Given the description of an element on the screen output the (x, y) to click on. 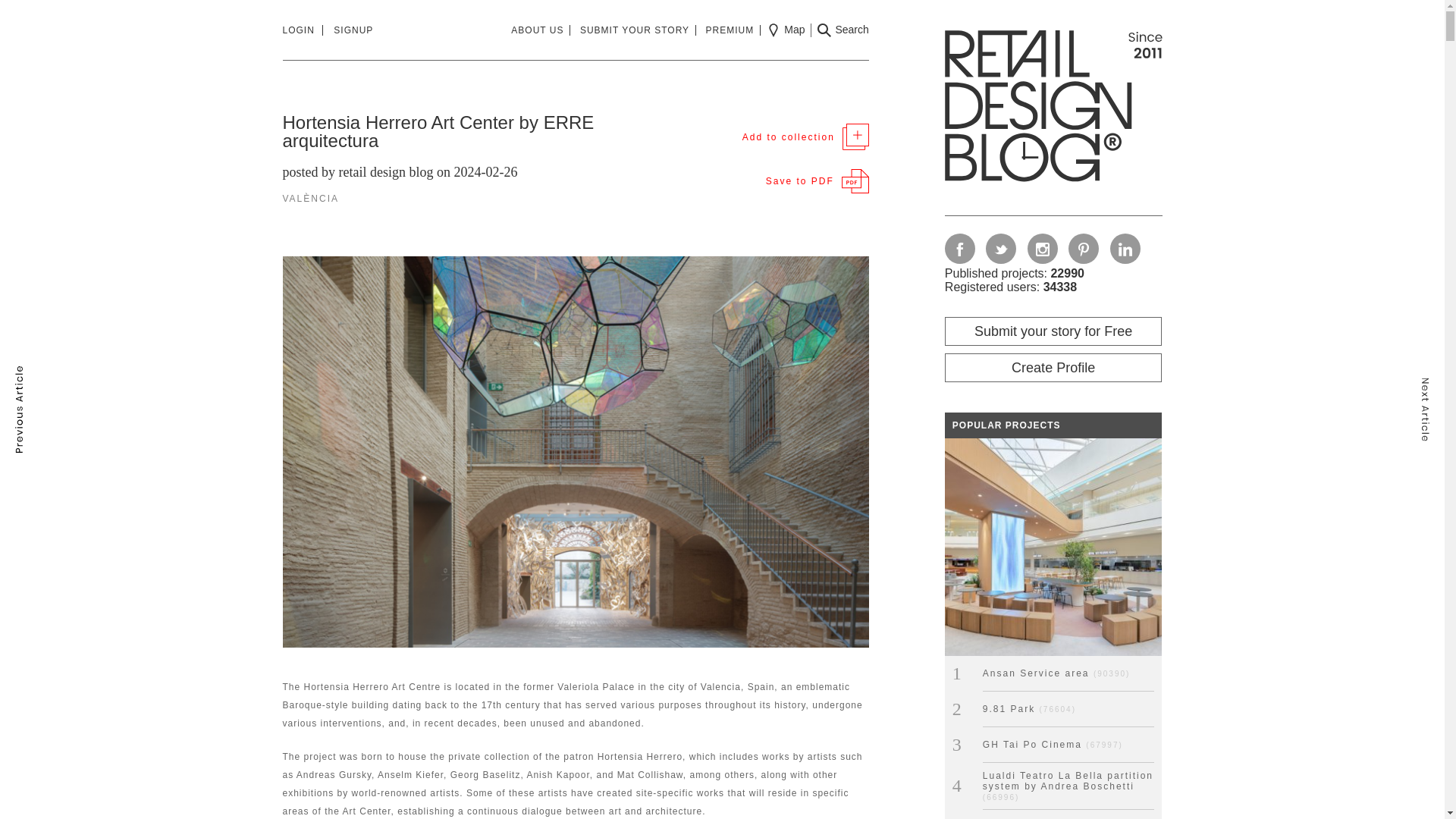
ABOUT US (540, 30)
SUBMIT YOUR STORY (637, 30)
SIGNUP (352, 30)
LOGIN (301, 30)
Search (841, 29)
Map (786, 29)
Save this article to PDF (817, 180)
PREMIUM (733, 30)
